Given the description of an element on the screen output the (x, y) to click on. 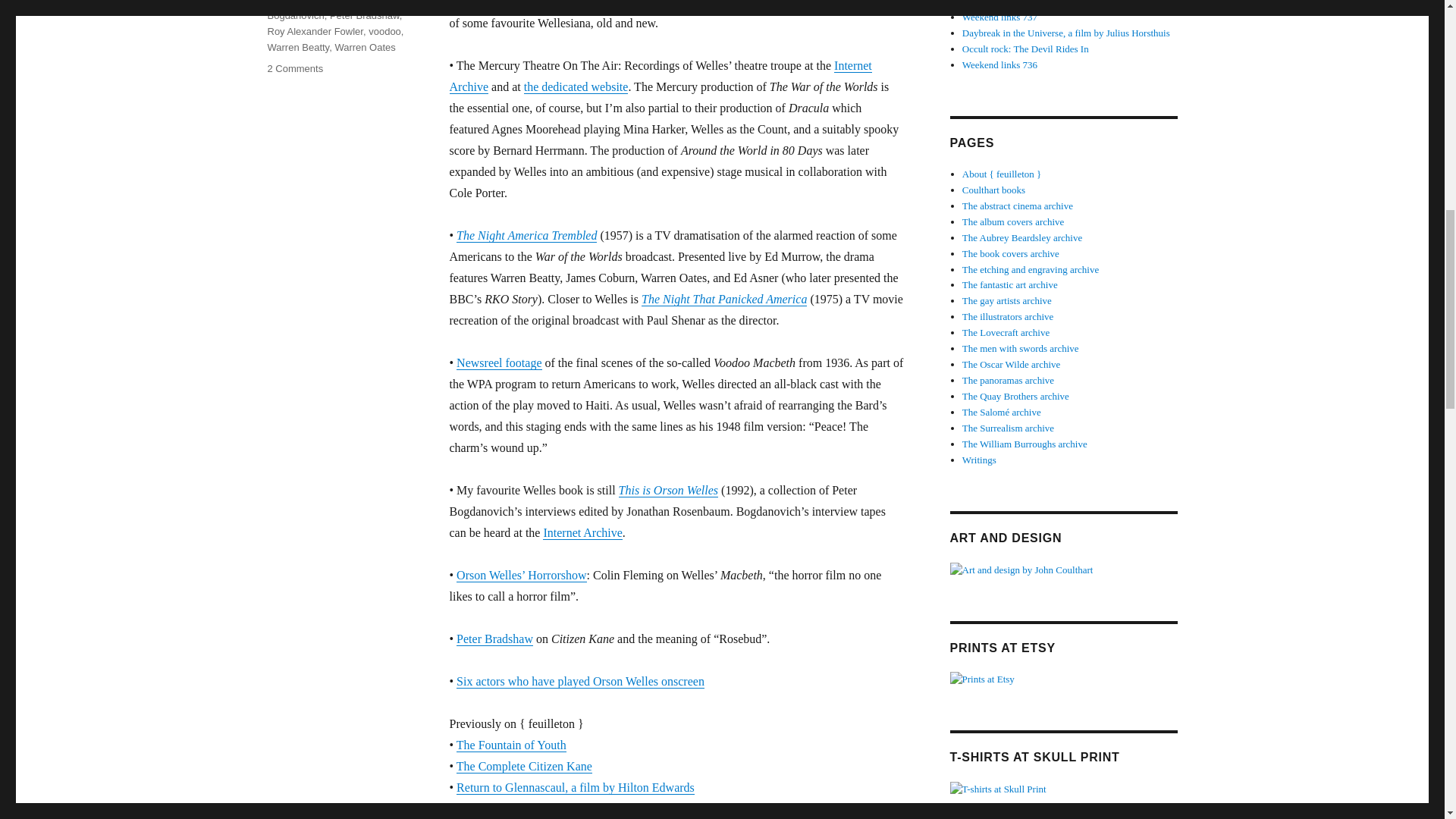
Screening Kafka (497, 808)
The Night America Trembled (526, 235)
Internet Archive (659, 75)
Newsreel footage (499, 362)
Internet Archive (582, 532)
Paul Shenar (329, 2)
Peter Bradshaw (494, 638)
the dedicated website (576, 86)
Return to Glennascaul, a film by Hilton Edwards (575, 787)
This is Orson Welles (667, 490)
